Given the description of an element on the screen output the (x, y) to click on. 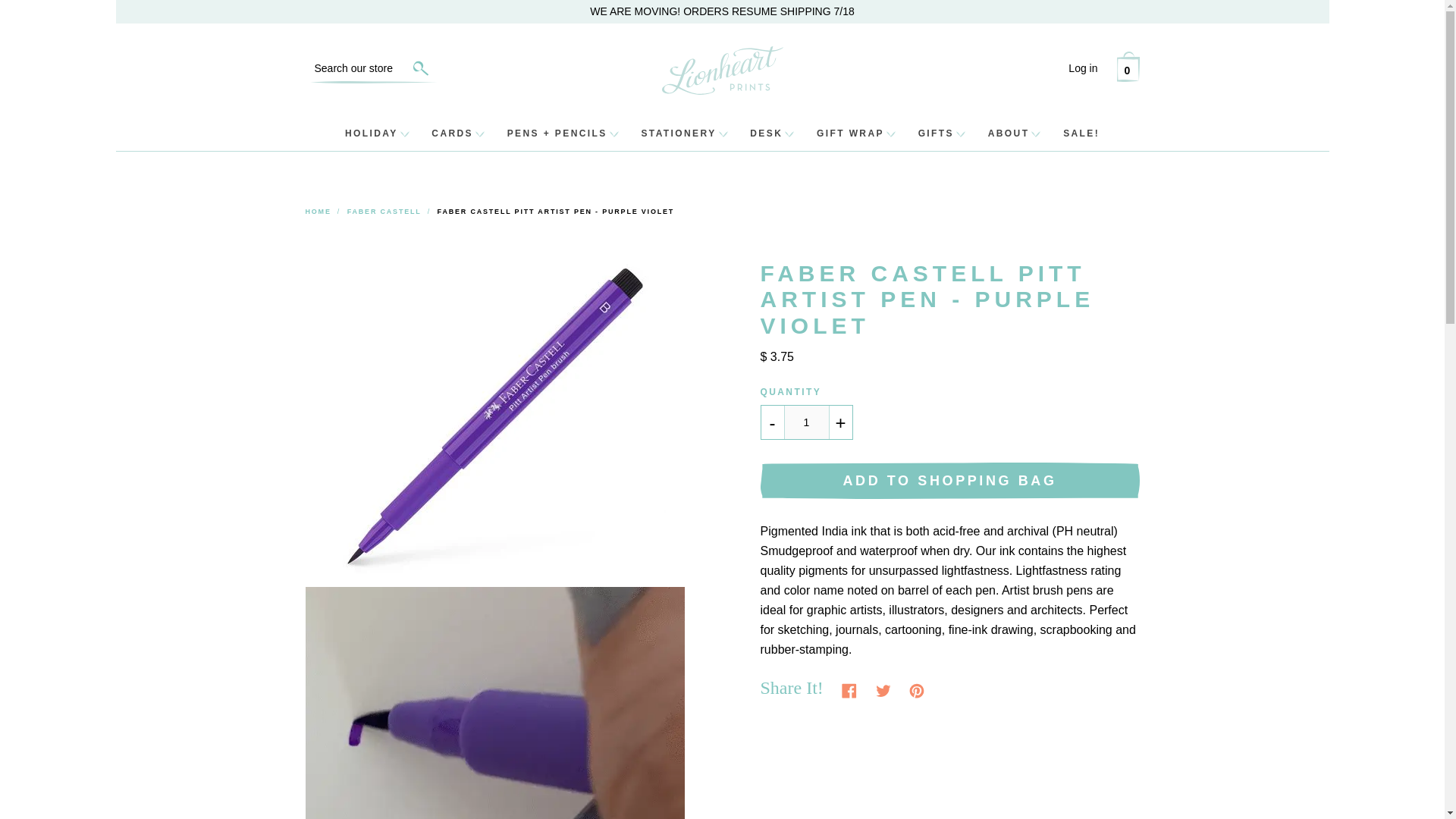
Log in (1082, 68)
HOLIDAY (377, 133)
CARDS (457, 133)
SEARCH (427, 68)
1 (806, 421)
